Given the description of an element on the screen output the (x, y) to click on. 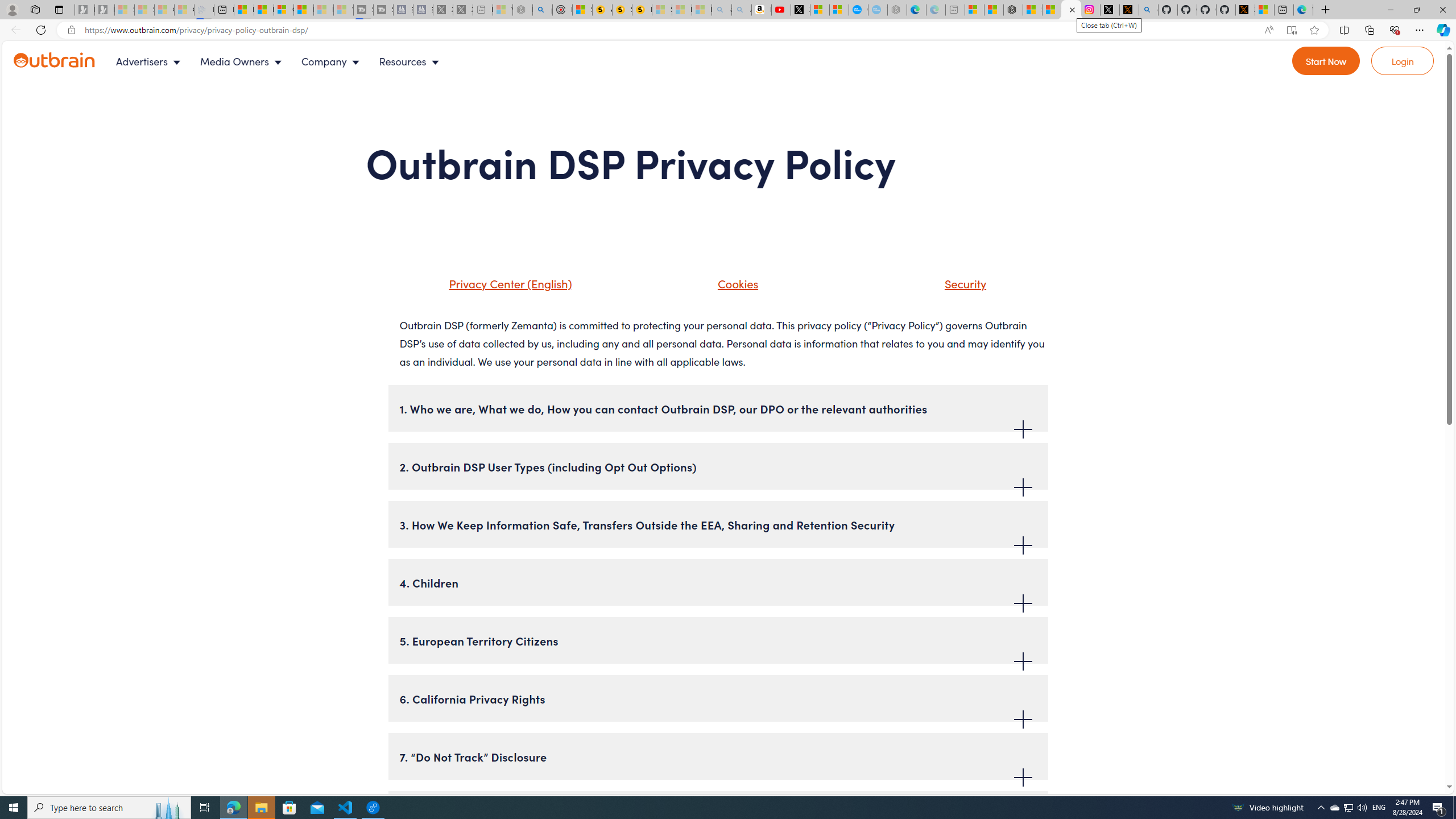
Advertisers (151, 61)
New tab - Sleeping (954, 9)
Company (333, 61)
Cookies (734, 282)
6. California Privacy Rights (717, 697)
Outbrain logo - link to homepage (67, 61)
